Given the description of an element on the screen output the (x, y) to click on. 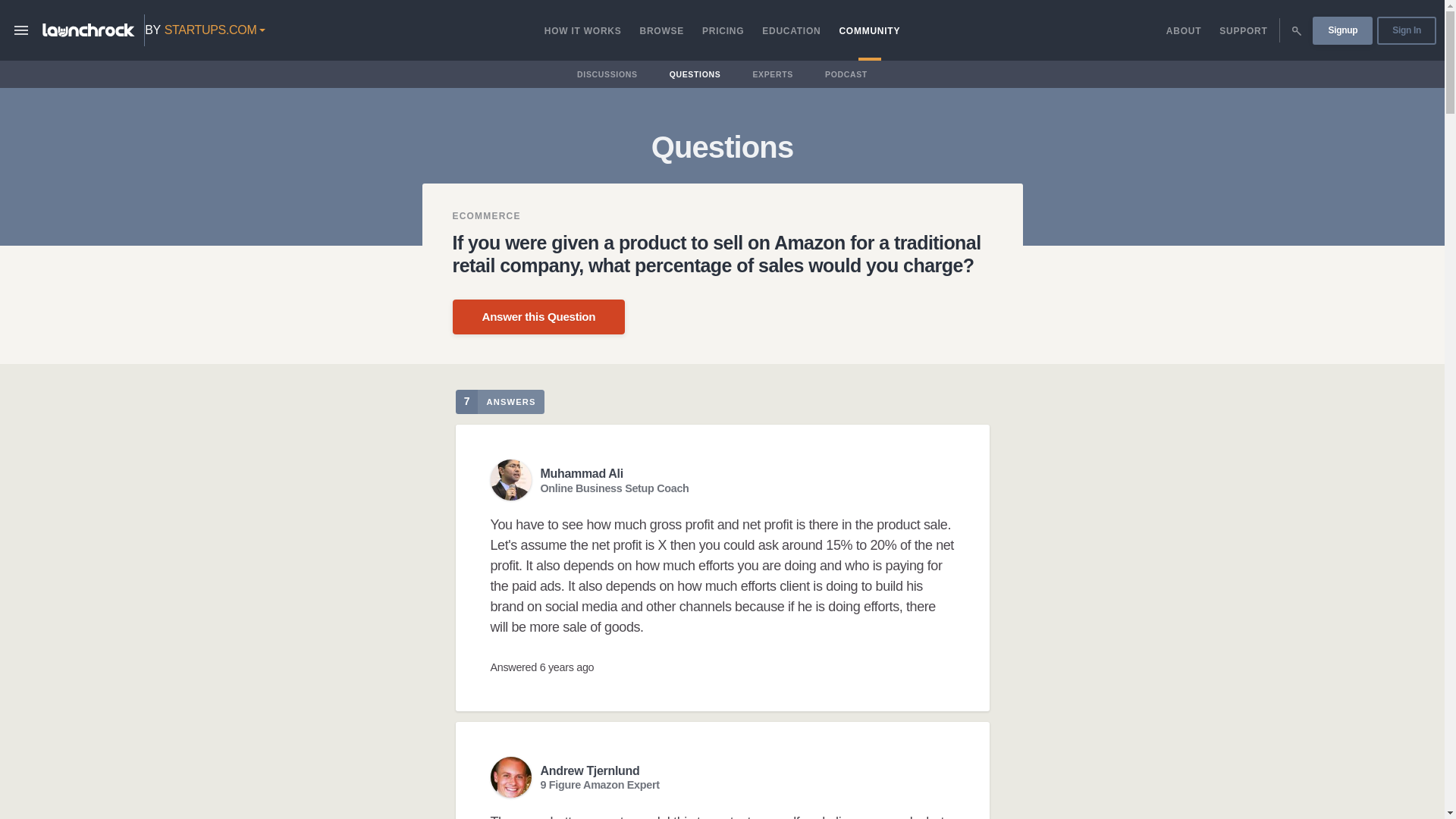
Photo of Andrew Tjernlund (510, 776)
Photo of Muhammad Ali (510, 479)
EXPERTS (773, 73)
DISCUSSIONS (607, 73)
EDUCATION (790, 30)
PODCAST (846, 73)
Signup (1343, 30)
QUESTIONS (695, 73)
HOW IT WORKS (582, 30)
SUPPORT (1242, 30)
PRICING (722, 30)
COMMUNITY (868, 30)
Sign In (1406, 30)
BROWSE (661, 30)
